Given the description of an element on the screen output the (x, y) to click on. 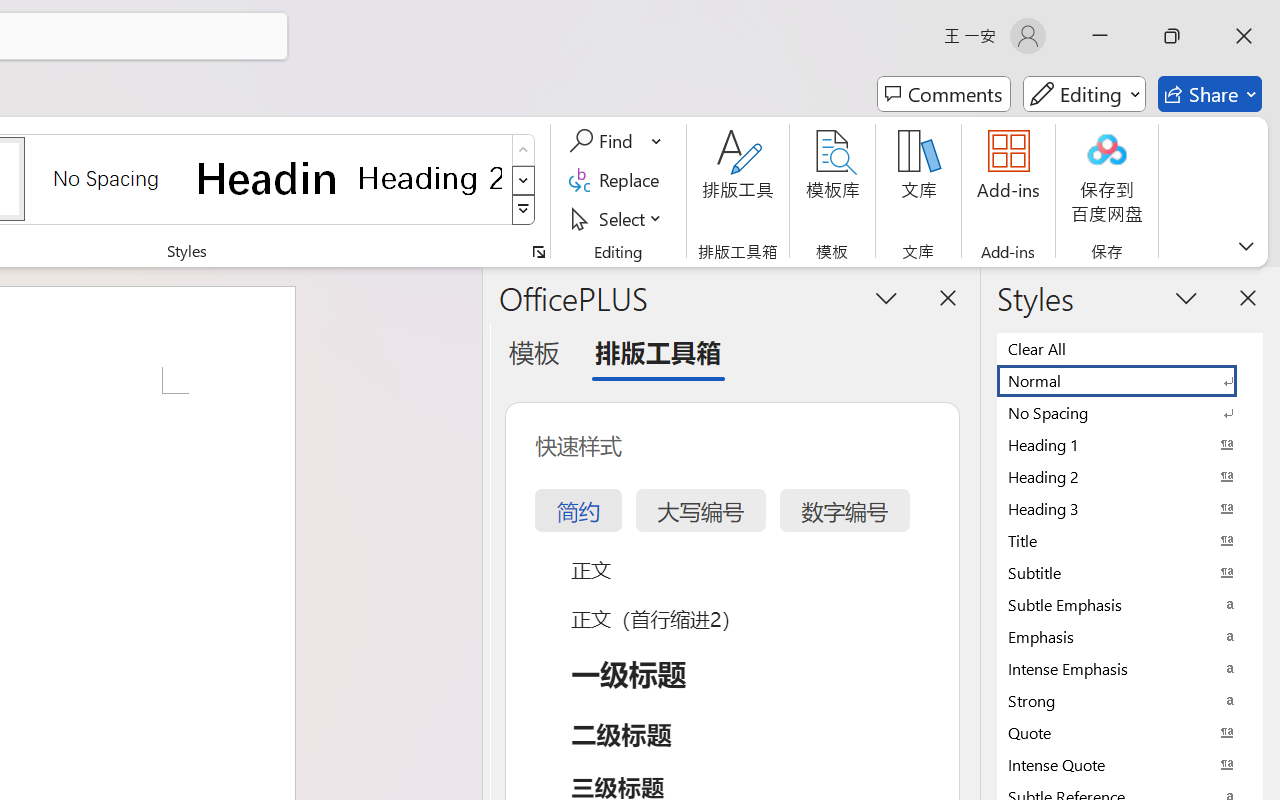
Restore Down (1172, 36)
Task Pane Options (886, 297)
Subtle Emphasis (1130, 604)
Heading 2 (429, 178)
Heading 3 (1130, 508)
Strong (1130, 700)
Emphasis (1130, 636)
Find (604, 141)
Subtitle (1130, 572)
Comments (943, 94)
Clear All (1130, 348)
